Given the description of an element on the screen output the (x, y) to click on. 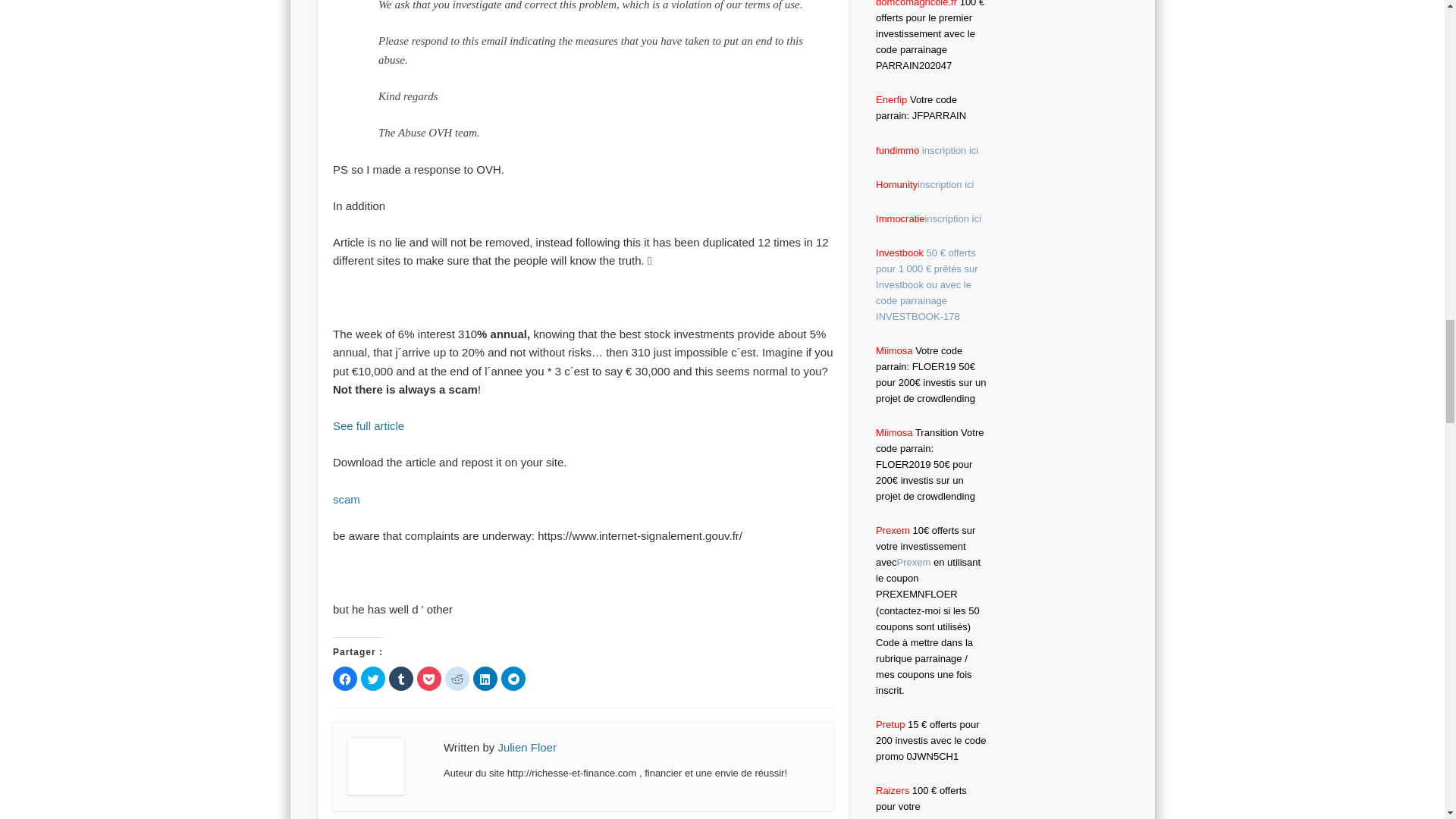
Cliquez pour partager sur Twitter (373, 678)
Cliquez pour partager sur Tumblr (400, 678)
Cliquez pour partager sur Facebook (344, 678)
